Given the description of an element on the screen output the (x, y) to click on. 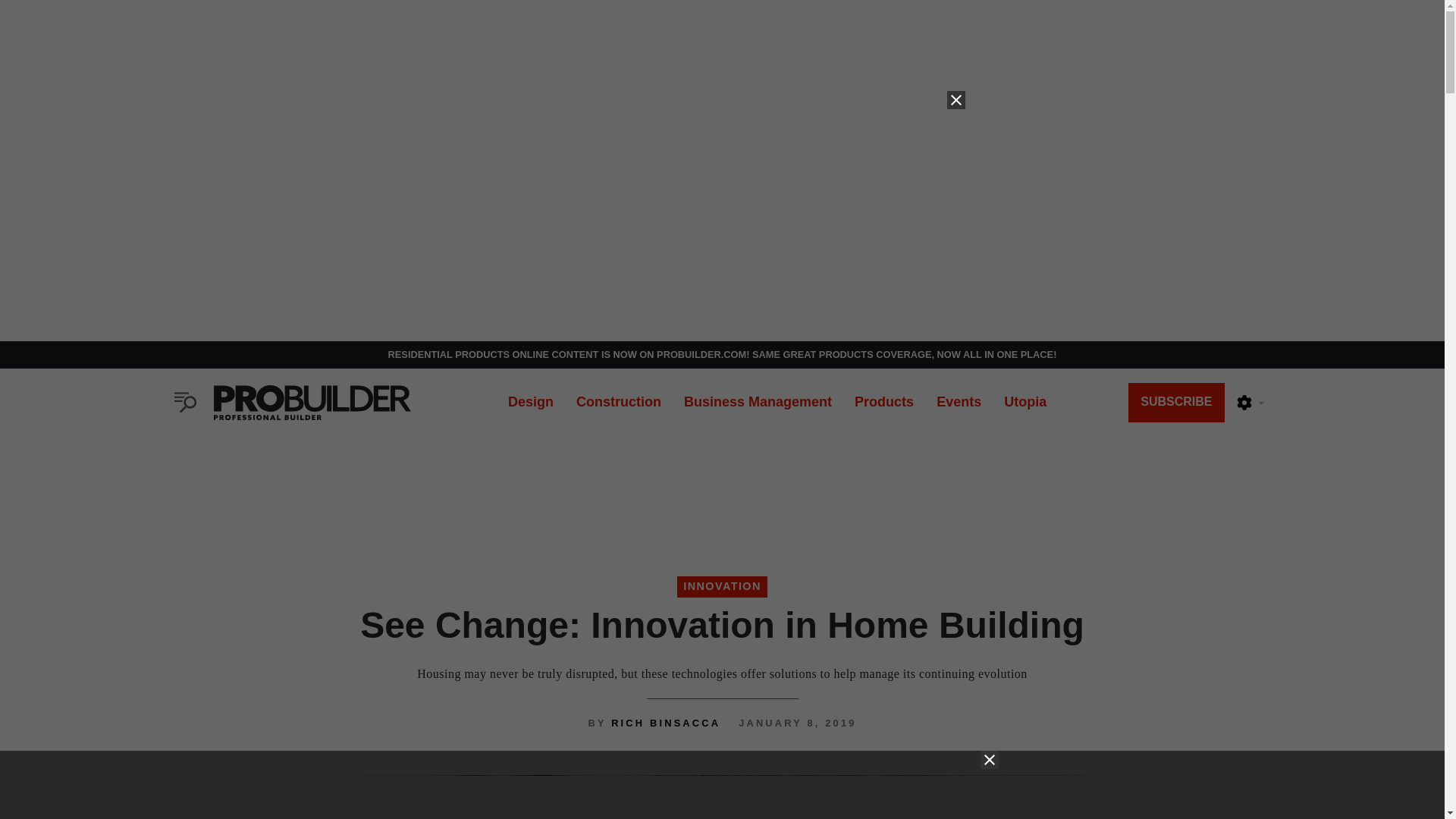
Tuesday, January 8, 2019 - 20:02 (797, 722)
3rd party ad content (721, 785)
RICH BINSACCA (665, 722)
Events (958, 402)
Design (530, 402)
INNOVATION (722, 586)
Business Management (757, 402)
3rd party ad content (721, 485)
Construction (618, 402)
Products (883, 402)
Utopia (1025, 402)
SUBSCRIBE (1176, 402)
